Given the description of an element on the screen output the (x, y) to click on. 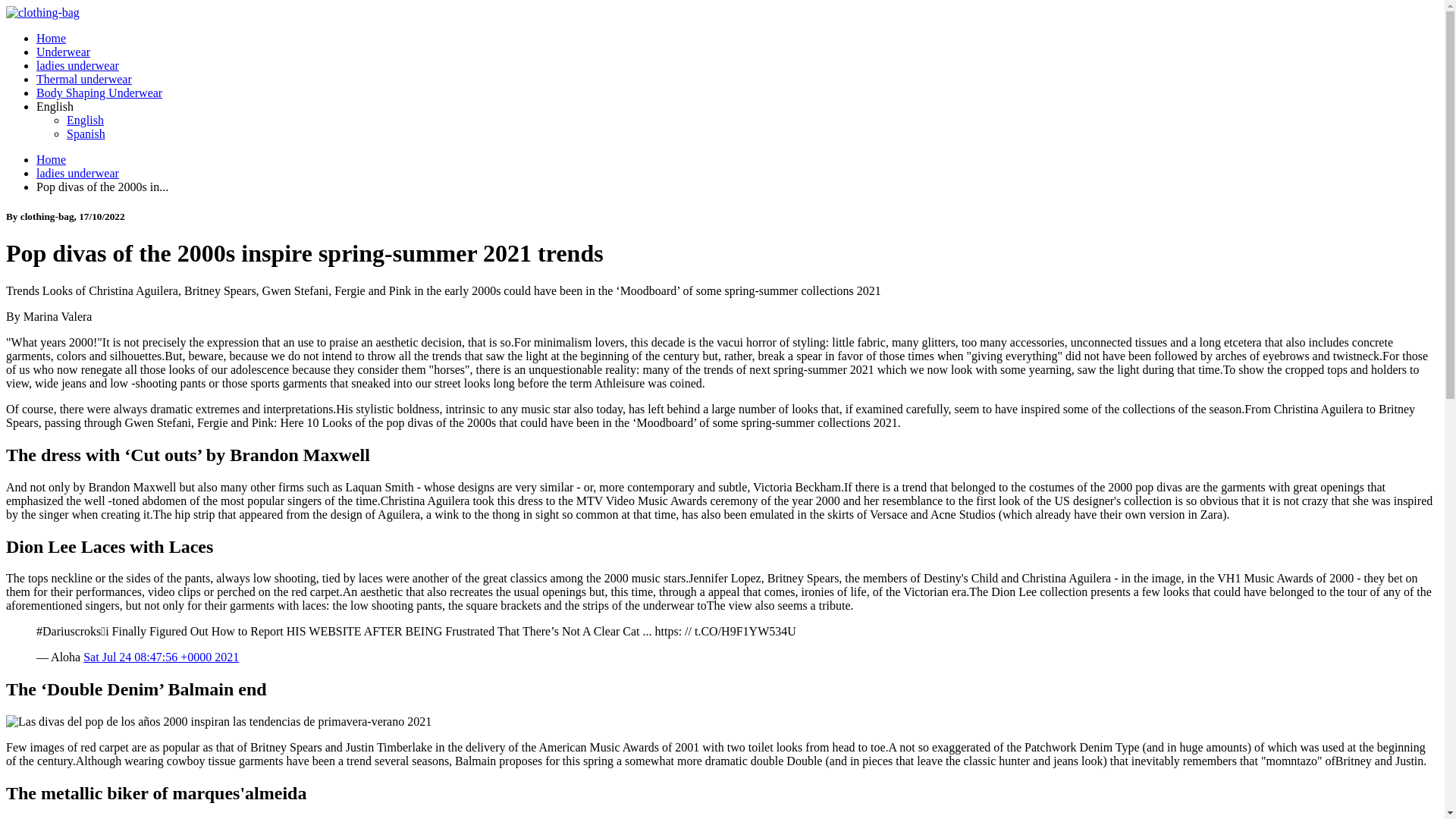
ladies underwear (77, 65)
Spanish (85, 133)
ladies underwear (77, 173)
Thermal underwear (84, 78)
Underwear (63, 51)
Home (50, 159)
clothing-bag (42, 12)
Body Shaping Underwear (98, 92)
English (84, 119)
Home (50, 38)
